Given the description of an element on the screen output the (x, y) to click on. 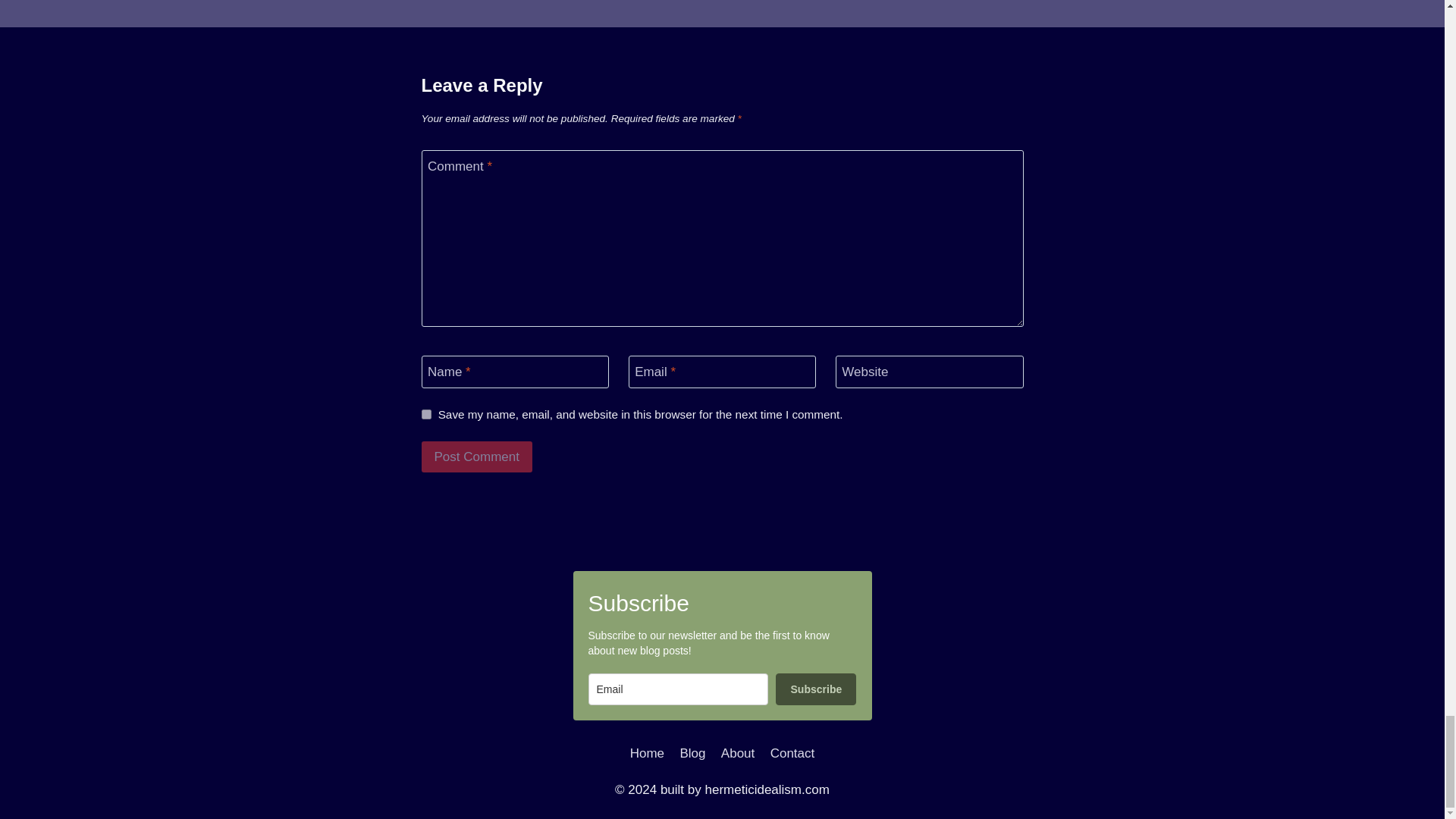
Subscribe (816, 689)
yes (426, 414)
Contact (791, 753)
Home (647, 753)
Blog (692, 753)
Post Comment (477, 456)
About (737, 753)
Post Comment (477, 456)
